Given the description of an element on the screen output the (x, y) to click on. 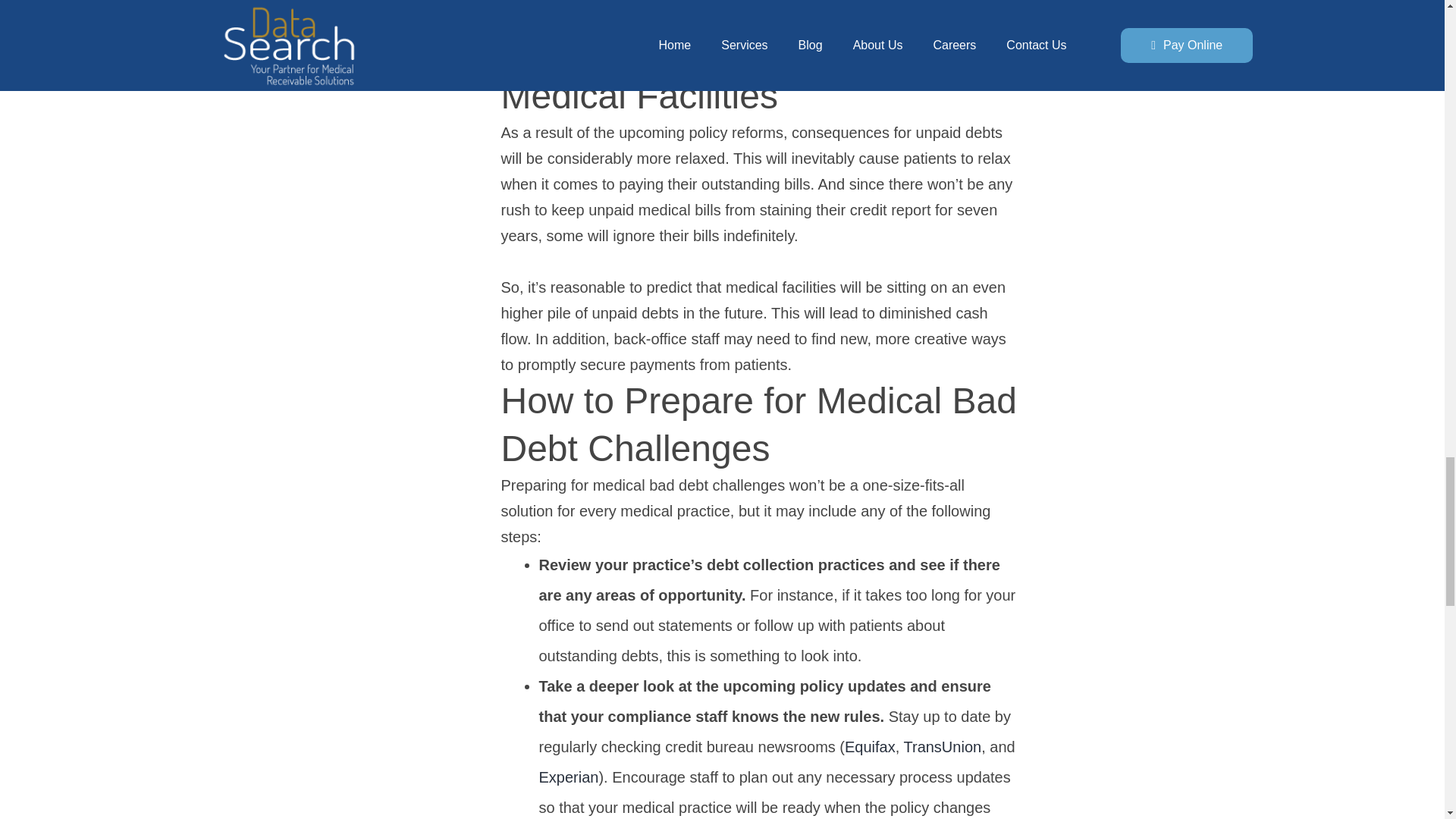
TransUnion (940, 746)
Equifax (869, 746)
Experian (568, 777)
